Given the description of an element on the screen output the (x, y) to click on. 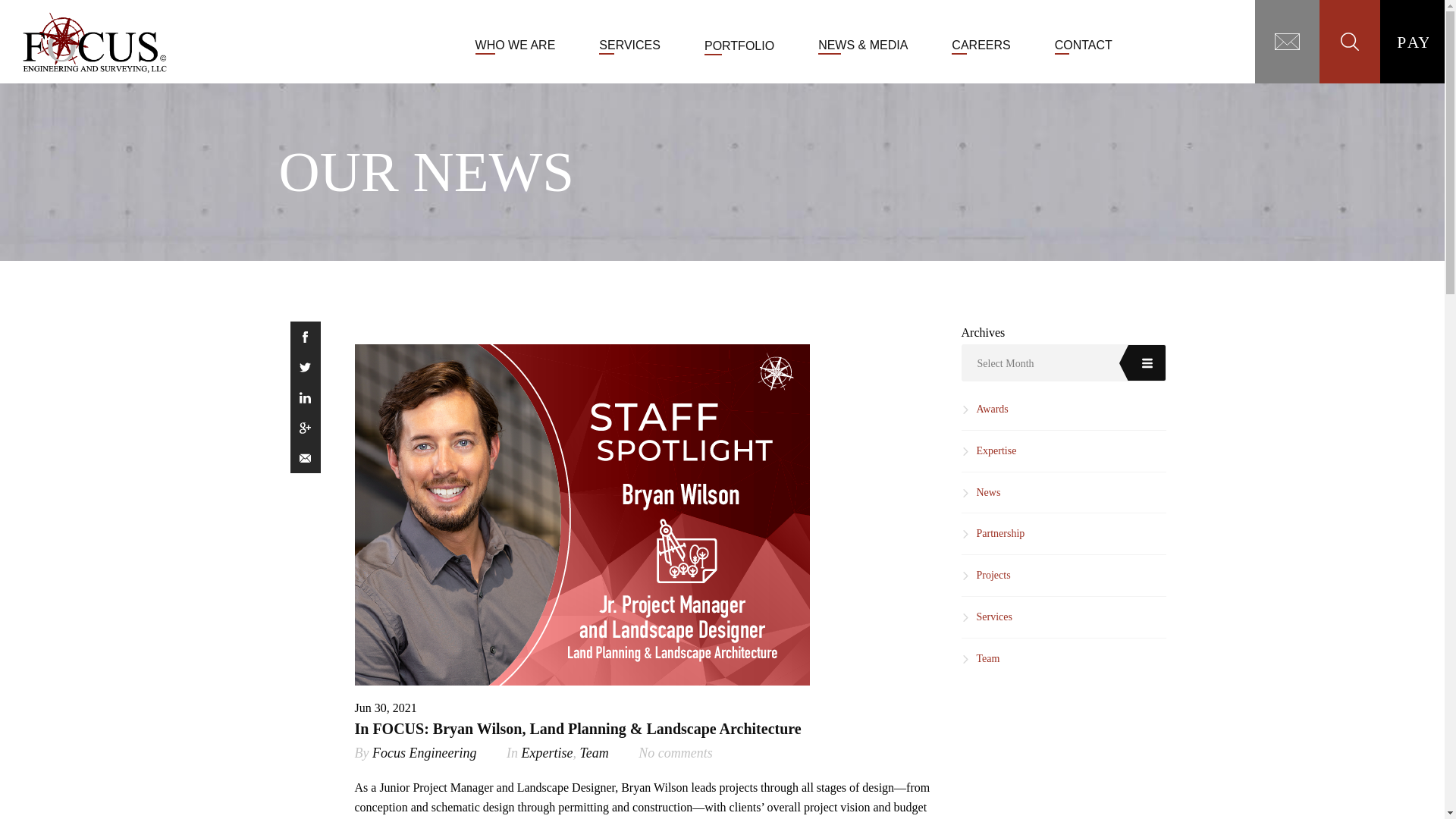
Expertise (546, 752)
Share on LinkedIn (304, 397)
Focus Engineering (424, 752)
CONTACT (1083, 44)
PORTFOLIO (739, 45)
SERVICES (629, 44)
Share on Twitter (304, 367)
Share on Facebook (304, 336)
CAREERS (981, 44)
Team (593, 752)
Share by Email (304, 458)
Share on Google Plus (304, 427)
WHO WE ARE (516, 44)
